Given the description of an element on the screen output the (x, y) to click on. 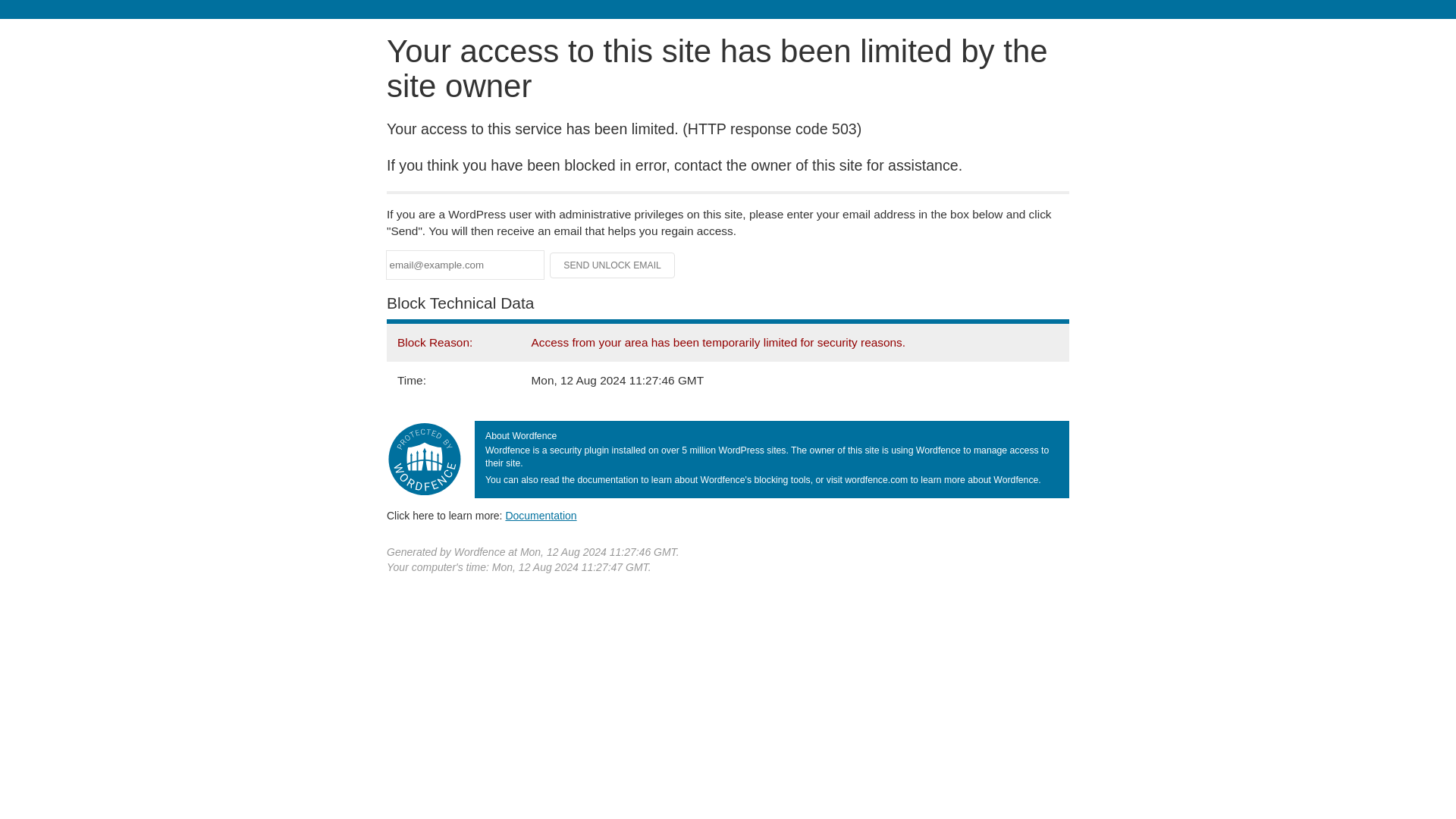
Send Unlock Email (612, 265)
Documentation (540, 515)
Send Unlock Email (612, 265)
